Given the description of an element on the screen output the (x, y) to click on. 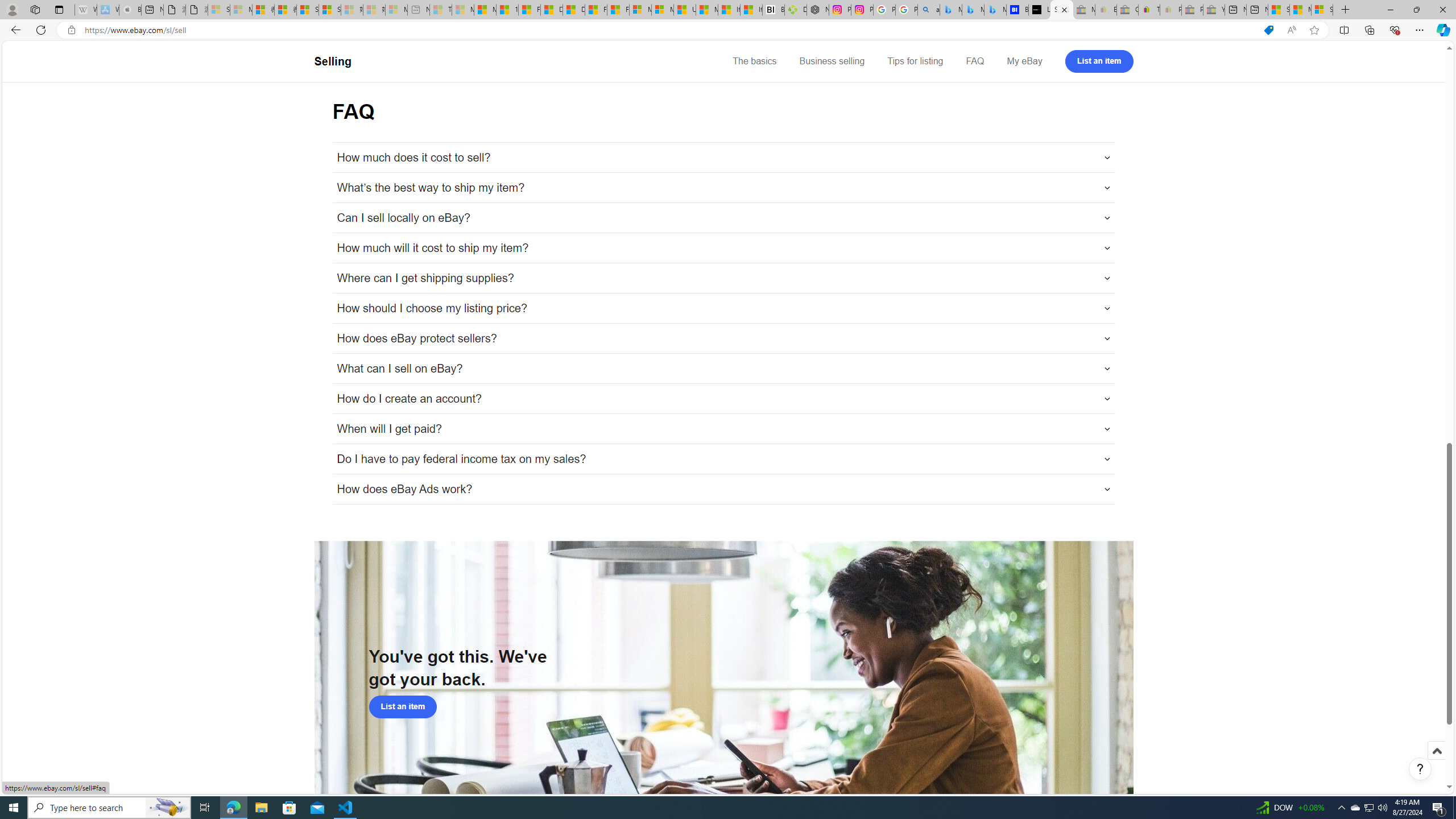
Wikipedia - Sleeping (85, 9)
This site has coupons! Shopping in Microsoft Edge (1268, 29)
Business selling (831, 60)
My eBay (1024, 60)
Tips for listing (914, 60)
When will I get paid? (723, 428)
Can I sell locally on eBay? (723, 218)
How should I choose my listing price? (723, 307)
Yard, Garden & Outdoor Living - Sleeping (1214, 9)
Selling on eBay | Electronics, Fashion, Home & Garden | eBay (1061, 9)
How much will it cost to ship my item? (723, 248)
Where can I get shipping supplies? (723, 278)
alabama high school quarterback dies - Search (928, 9)
